Given the description of an element on the screen output the (x, y) to click on. 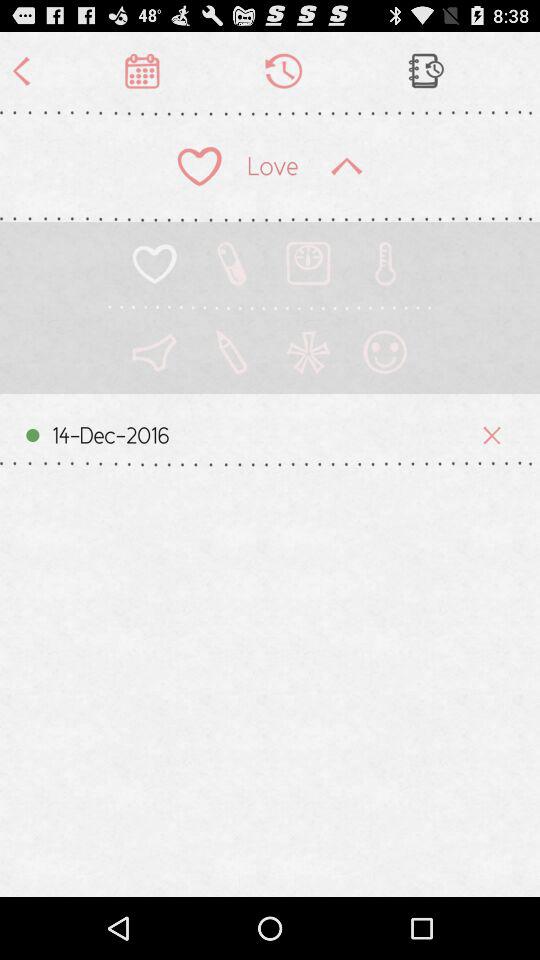
select the four images immediately below love (269, 275)
